Given the description of an element on the screen output the (x, y) to click on. 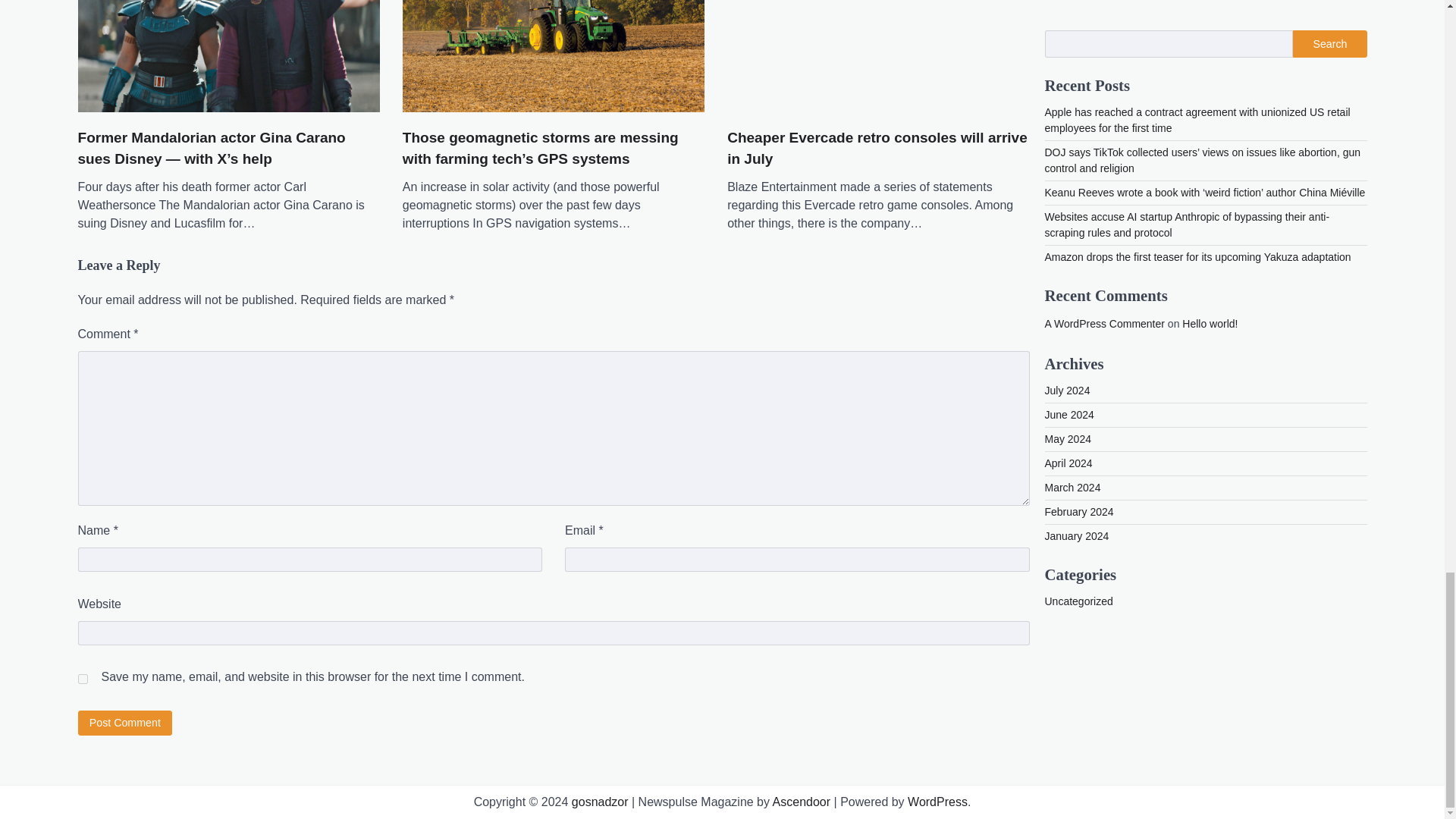
Post Comment (124, 722)
Ascendoor (802, 801)
yes (82, 678)
Cheaper Evercade retro consoles will arrive in July (877, 148)
Post Comment (124, 722)
gosnadzor (600, 801)
